Given the description of an element on the screen output the (x, y) to click on. 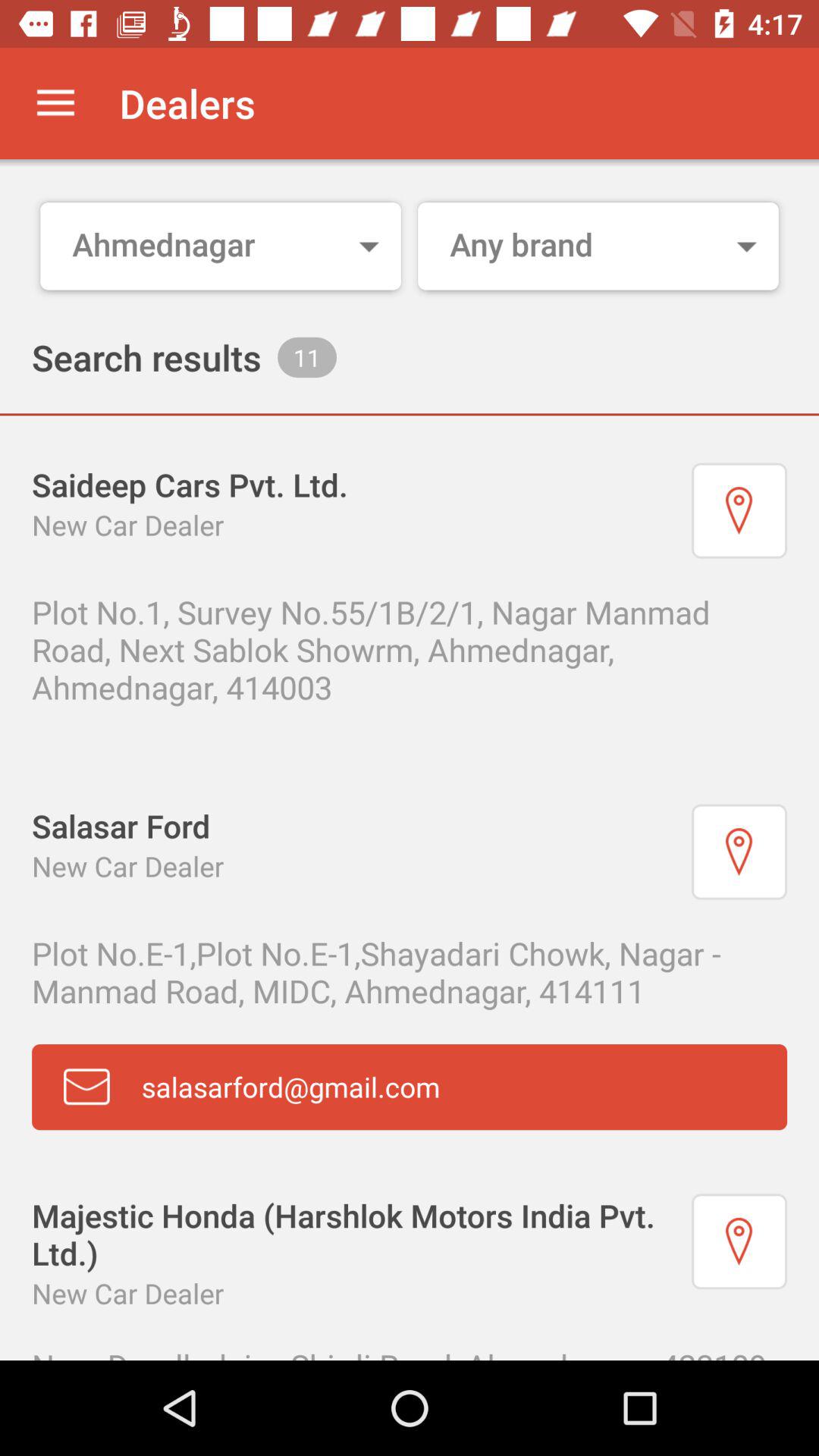
show location (739, 851)
